Given the description of an element on the screen output the (x, y) to click on. 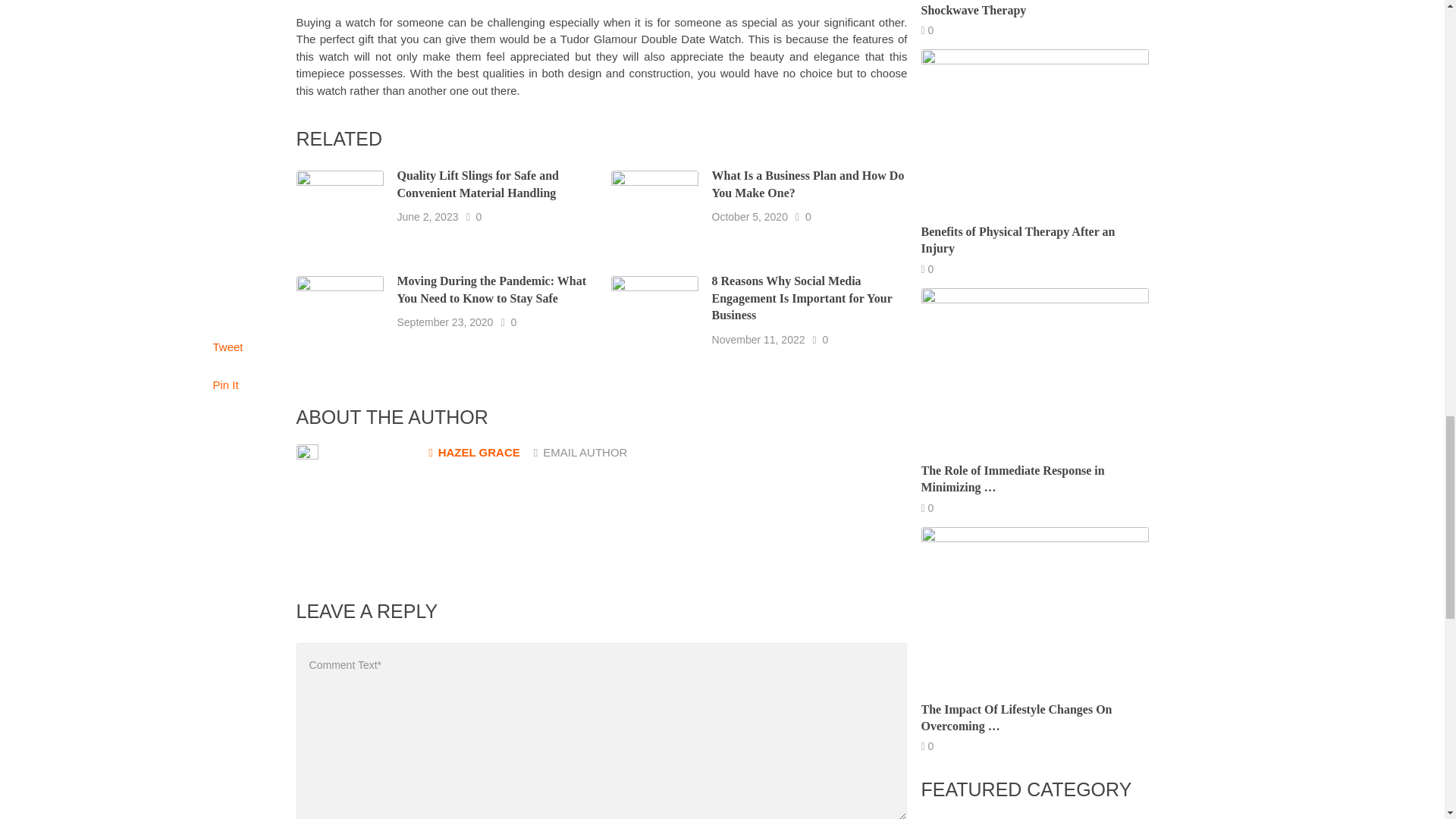
What Is a Business Plan and How Do You Make One? (807, 183)
